Given the description of an element on the screen output the (x, y) to click on. 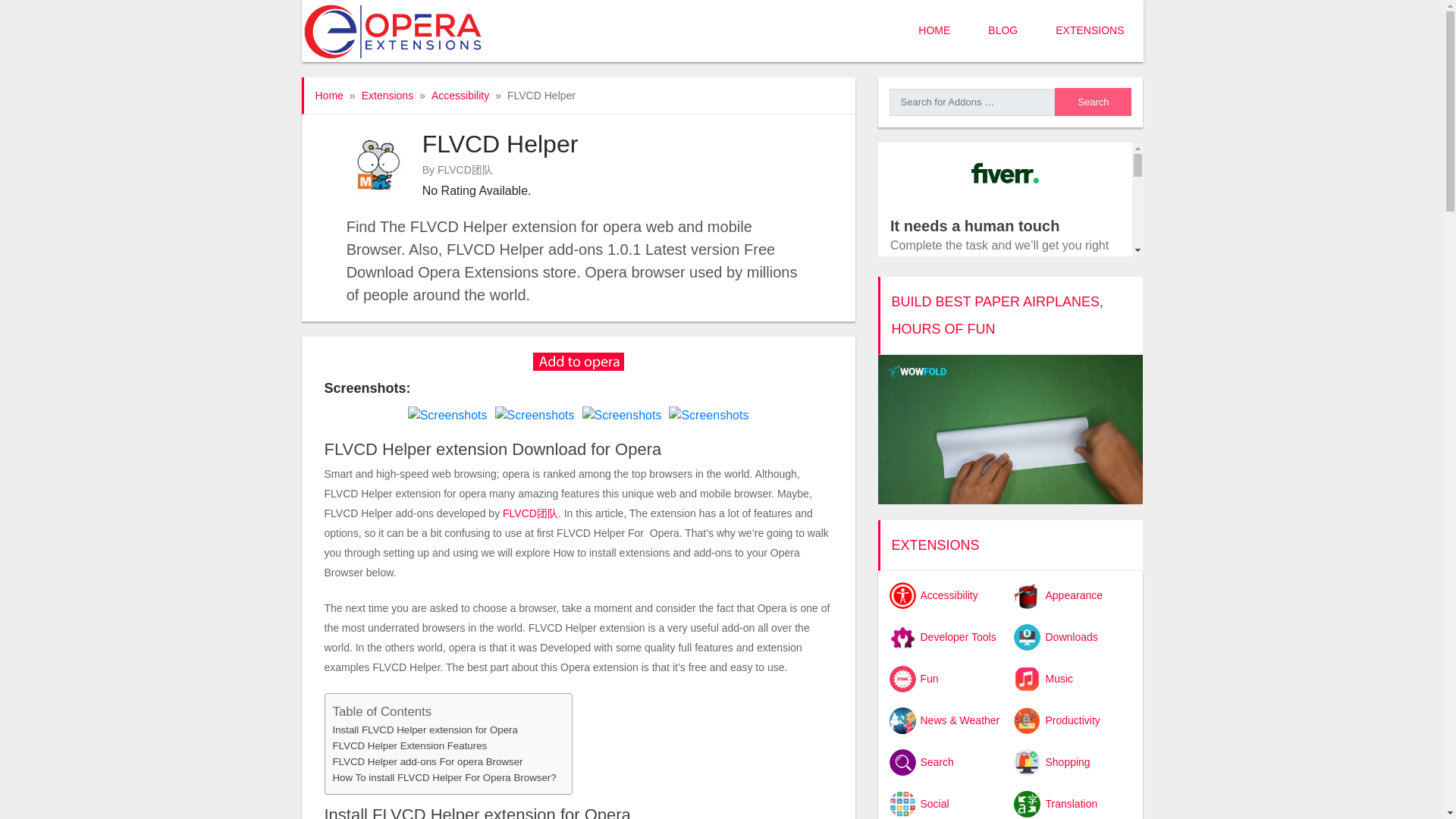
EXTENSIONS (1089, 31)
Extensions (387, 95)
Install FLVCD Helper extension for Opera (423, 729)
How To install FLVCD Helper For Opera Browser? (443, 777)
FLVCD Helper - Download (577, 359)
Home (329, 95)
FLVCD Helper Extension Features (408, 745)
How To install FLVCD Helper For Opera Browser? (443, 777)
Search (1092, 101)
BLOG (1002, 31)
Accessibility (459, 95)
Install FLVCD Helper extension for Opera (423, 729)
FLVCD Helper add-ons For opera Browser (426, 761)
HOME (934, 31)
FLVCD Helper Extension Features (408, 745)
